Given the description of an element on the screen output the (x, y) to click on. 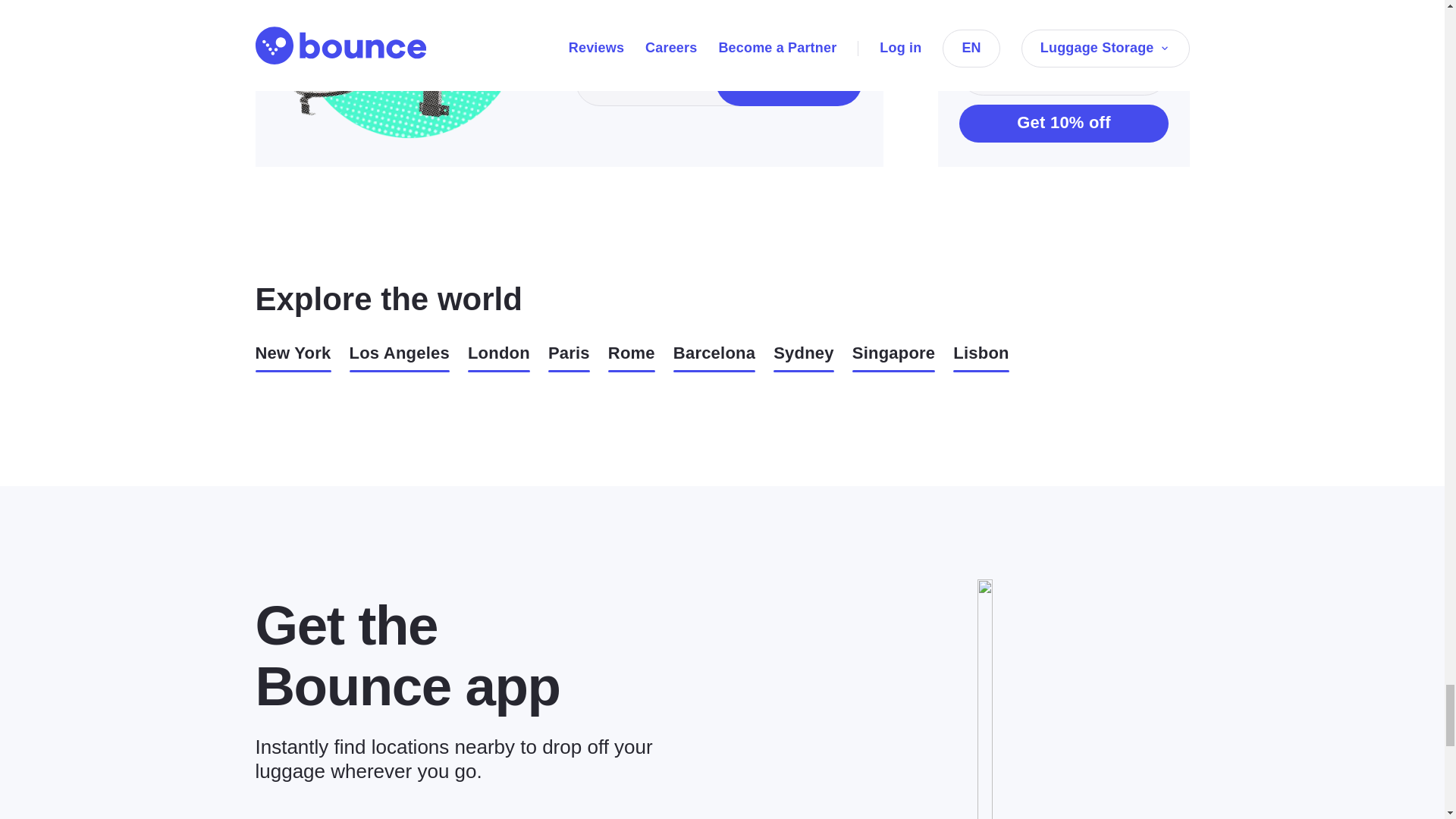
Los Angeles (398, 357)
Singapore (893, 357)
Paris (568, 357)
Lisbon (981, 357)
London (498, 357)
Sydney (803, 357)
Rome (631, 357)
Barcelona (713, 357)
New York (292, 357)
